Given the description of an element on the screen output the (x, y) to click on. 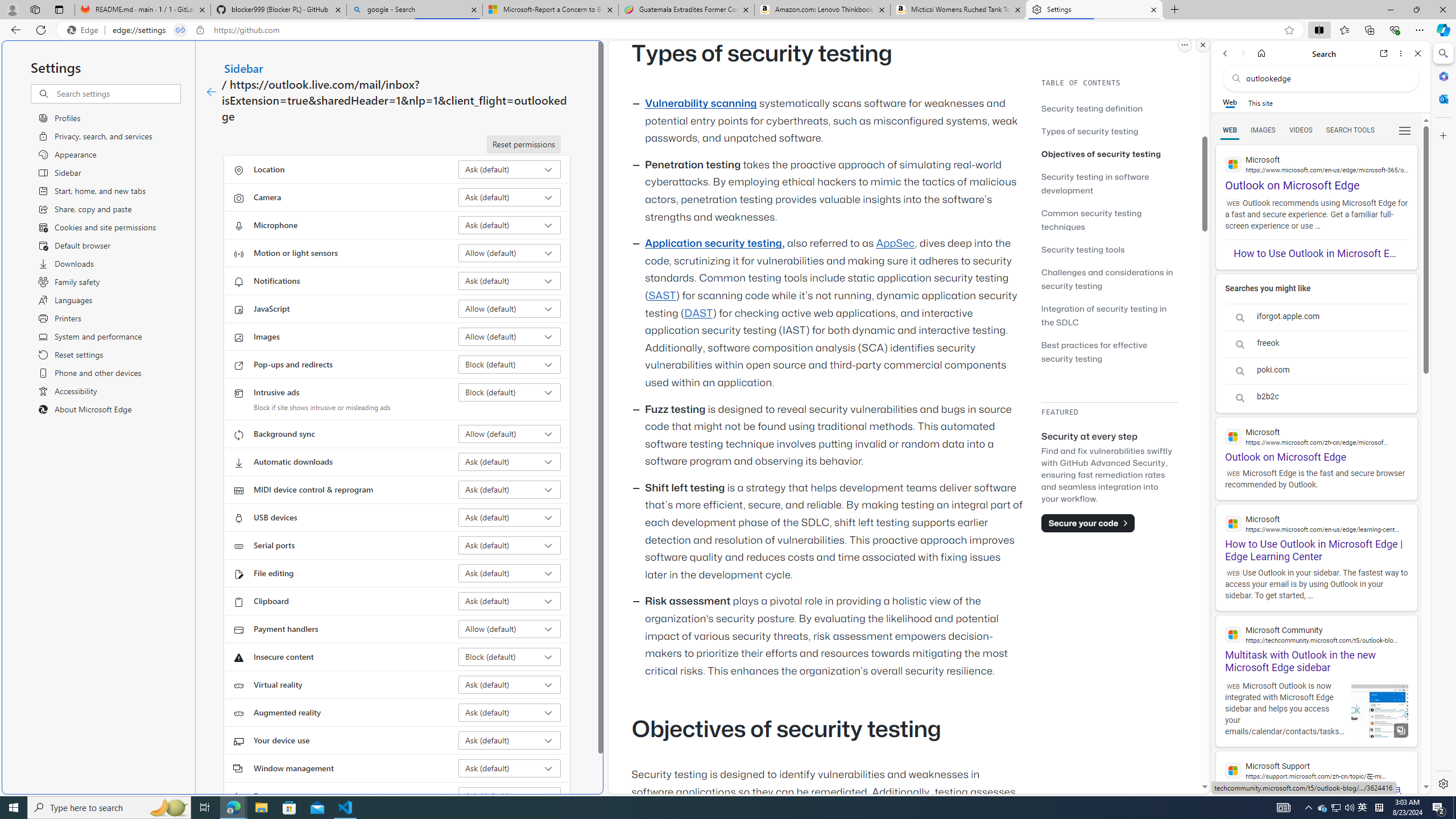
Vulnerability scanning (701, 103)
Insecure content Block (default) (509, 656)
Security testing tools (1109, 249)
b2b2c (1315, 397)
File editing Ask (default) (509, 573)
Objectives of security testing (1101, 153)
Common security testing techniques (1109, 219)
poki.com (1315, 370)
Microsoft Community (1315, 634)
